Given the description of an element on the screen output the (x, y) to click on. 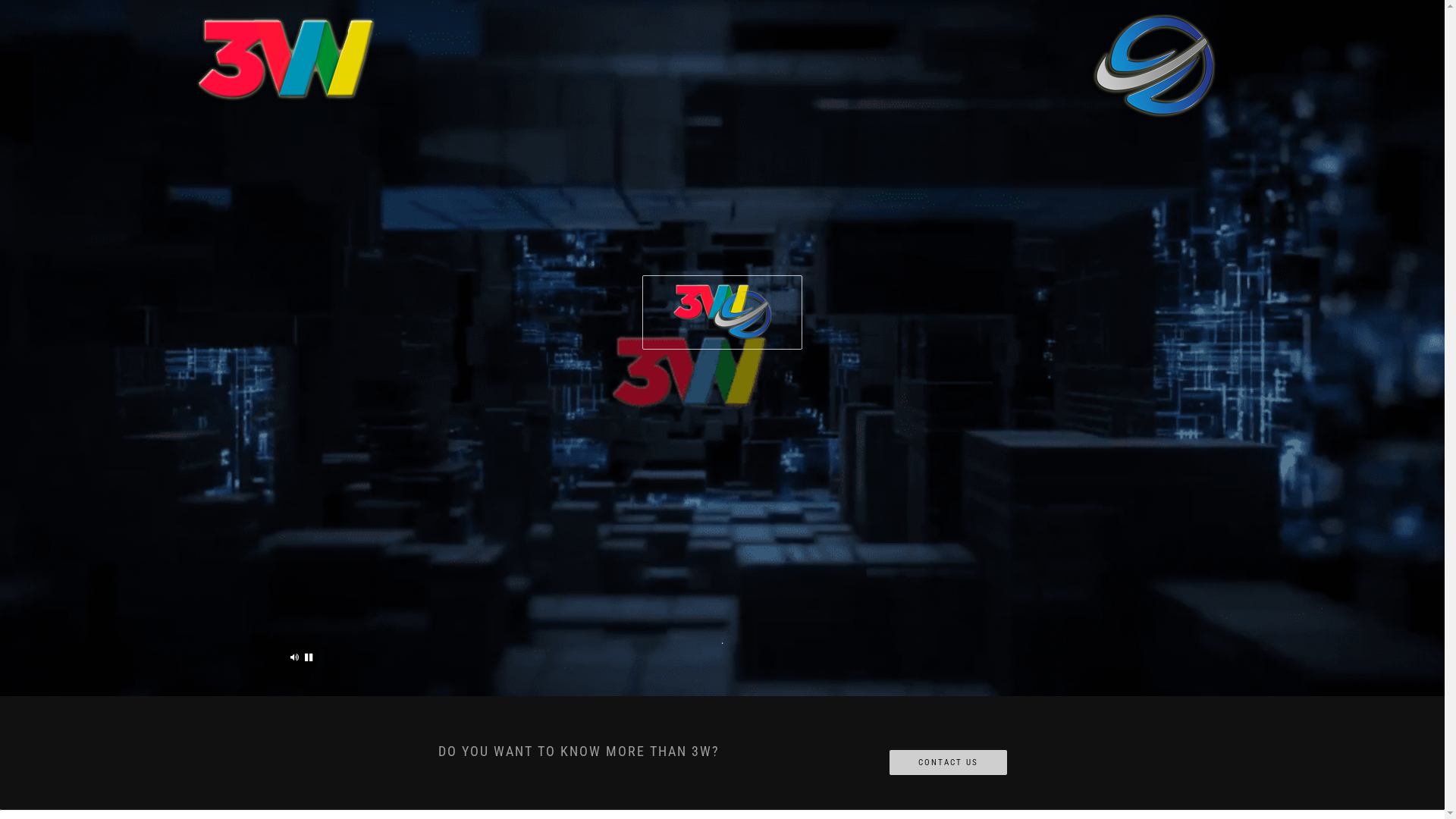
  Element type: text (309, 657)
CONTACT US Element type: text (947, 762)
  Element type: text (294, 657)
